Given the description of an element on the screen output the (x, y) to click on. 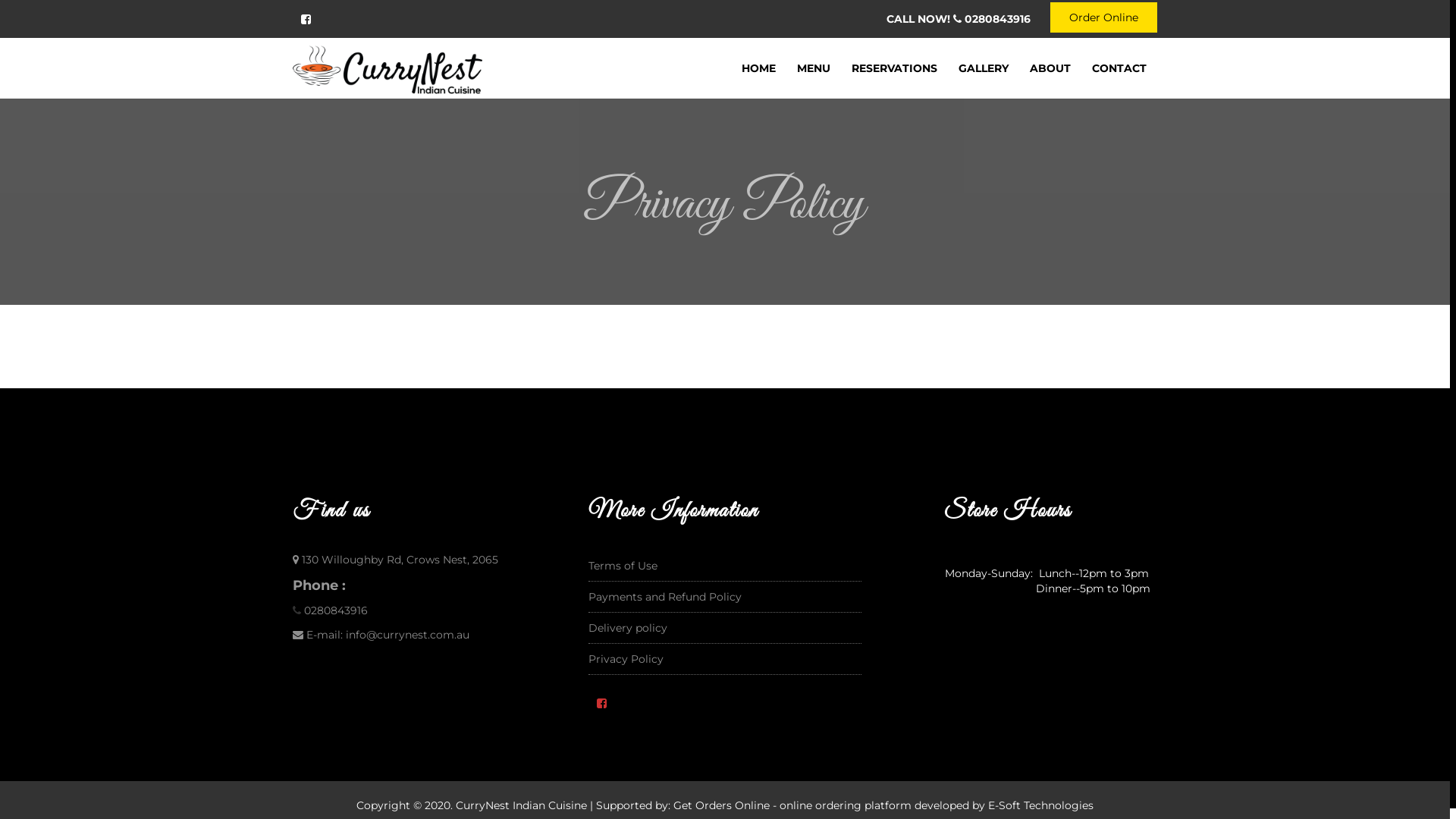
Payments and Refund Policy Element type: text (664, 596)
Order Online Element type: text (1103, 17)
Privacy Policy Element type: text (625, 658)
0280843916 Element type: text (335, 610)
ABOUT Element type: text (1050, 68)
CALL NOW! 0280843916 Element type: text (958, 18)
CONTACT Element type: text (1119, 68)
HOME Element type: text (758, 68)
MENU Element type: text (813, 68)
Terms of Use Element type: text (622, 565)
Delivery policy Element type: text (627, 627)
GALLERY Element type: text (983, 68)
RESERVATIONS Element type: text (893, 68)
E-mail: info@currynest.com.au Element type: text (387, 634)
